Given the description of an element on the screen output the (x, y) to click on. 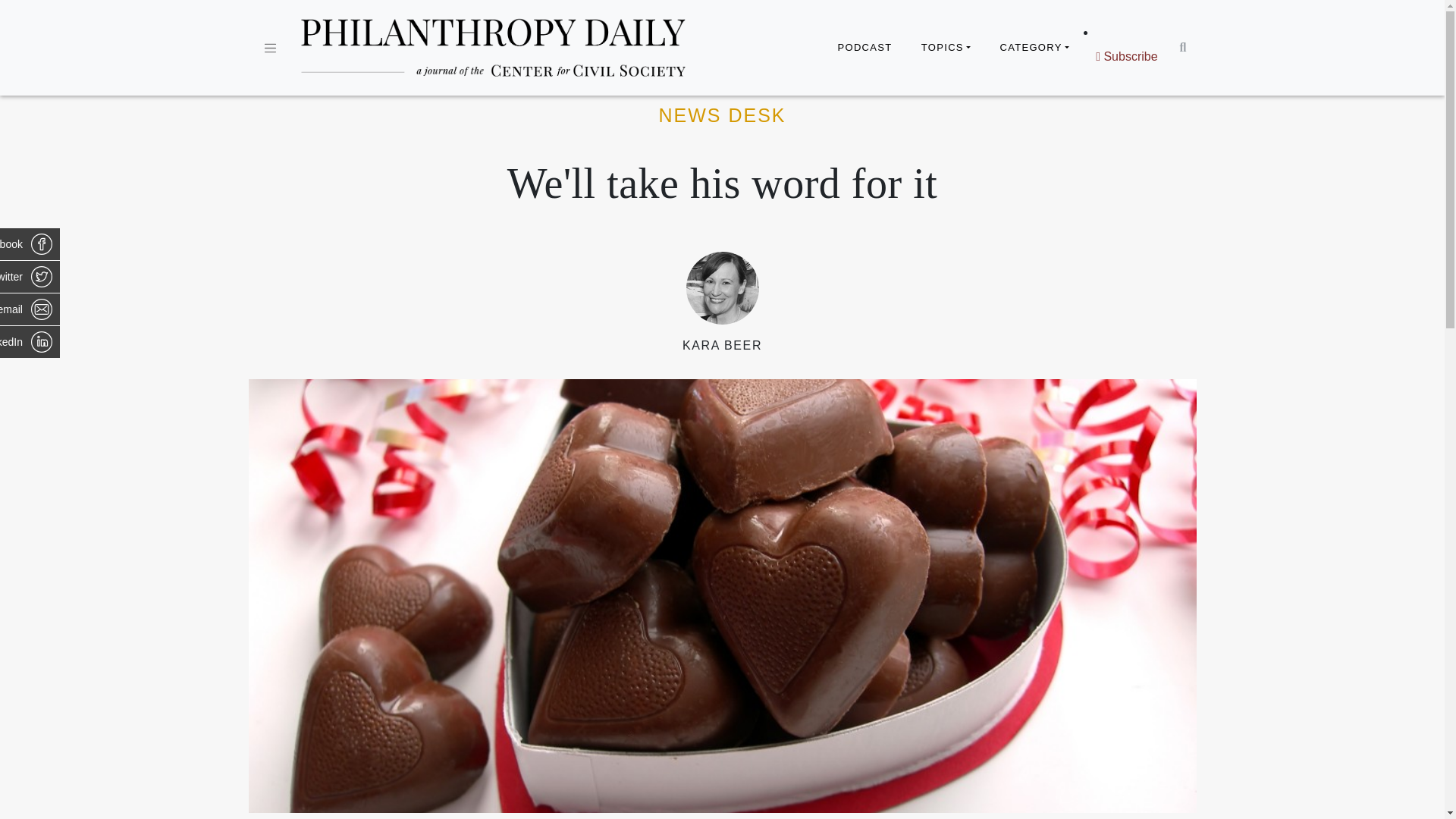
  Share on Facebook (29, 244)
Share via email (29, 309)
PODCAST (864, 47)
Share on LinkedIn (29, 341)
TOPICS (945, 47)
Share on Twitter (29, 276)
